Given the description of an element on the screen output the (x, y) to click on. 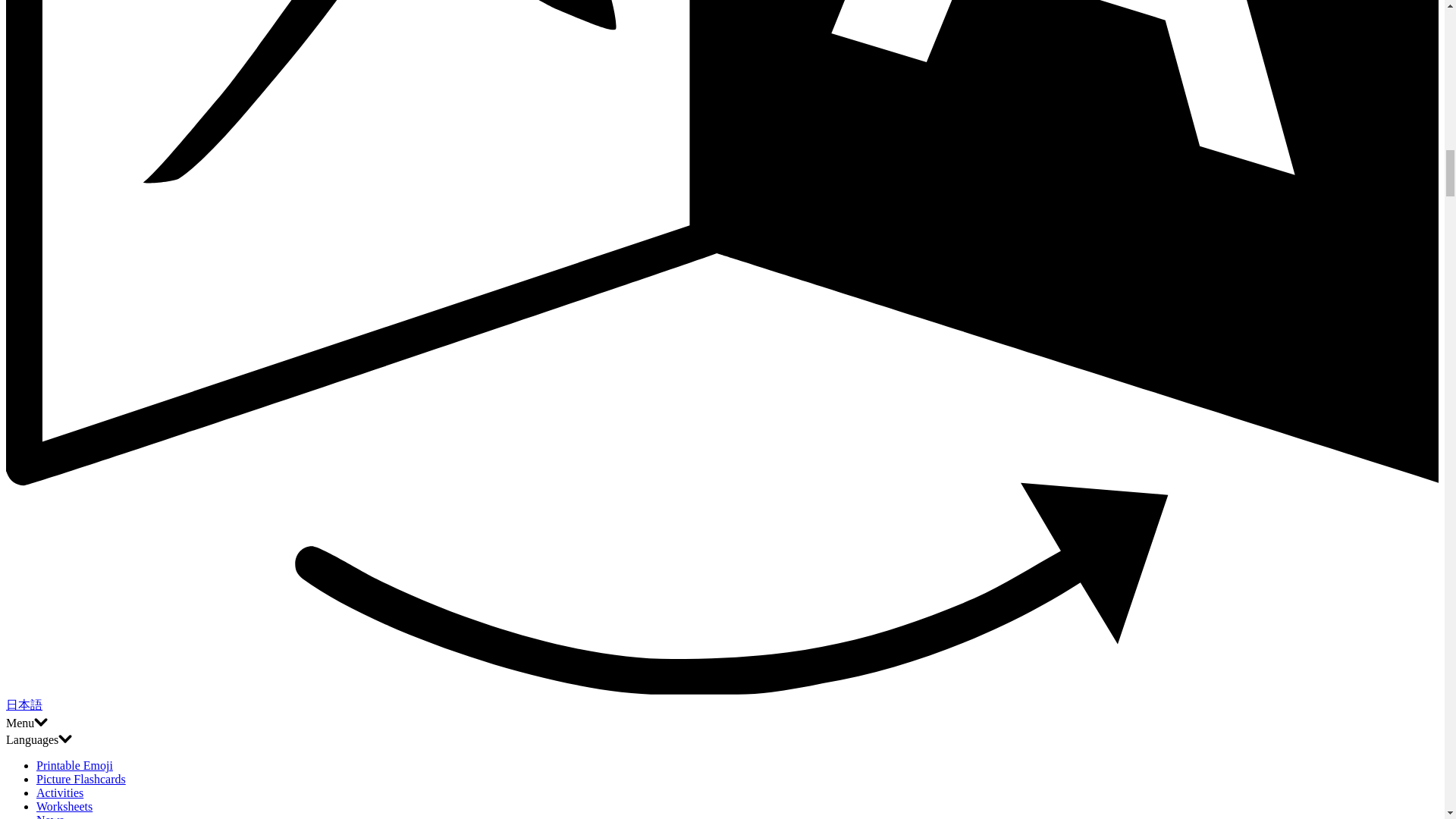
Activities (59, 792)
Printable Emoji (74, 765)
Worksheets (64, 806)
News (50, 816)
Picture Flashcards (80, 779)
